Given the description of an element on the screen output the (x, y) to click on. 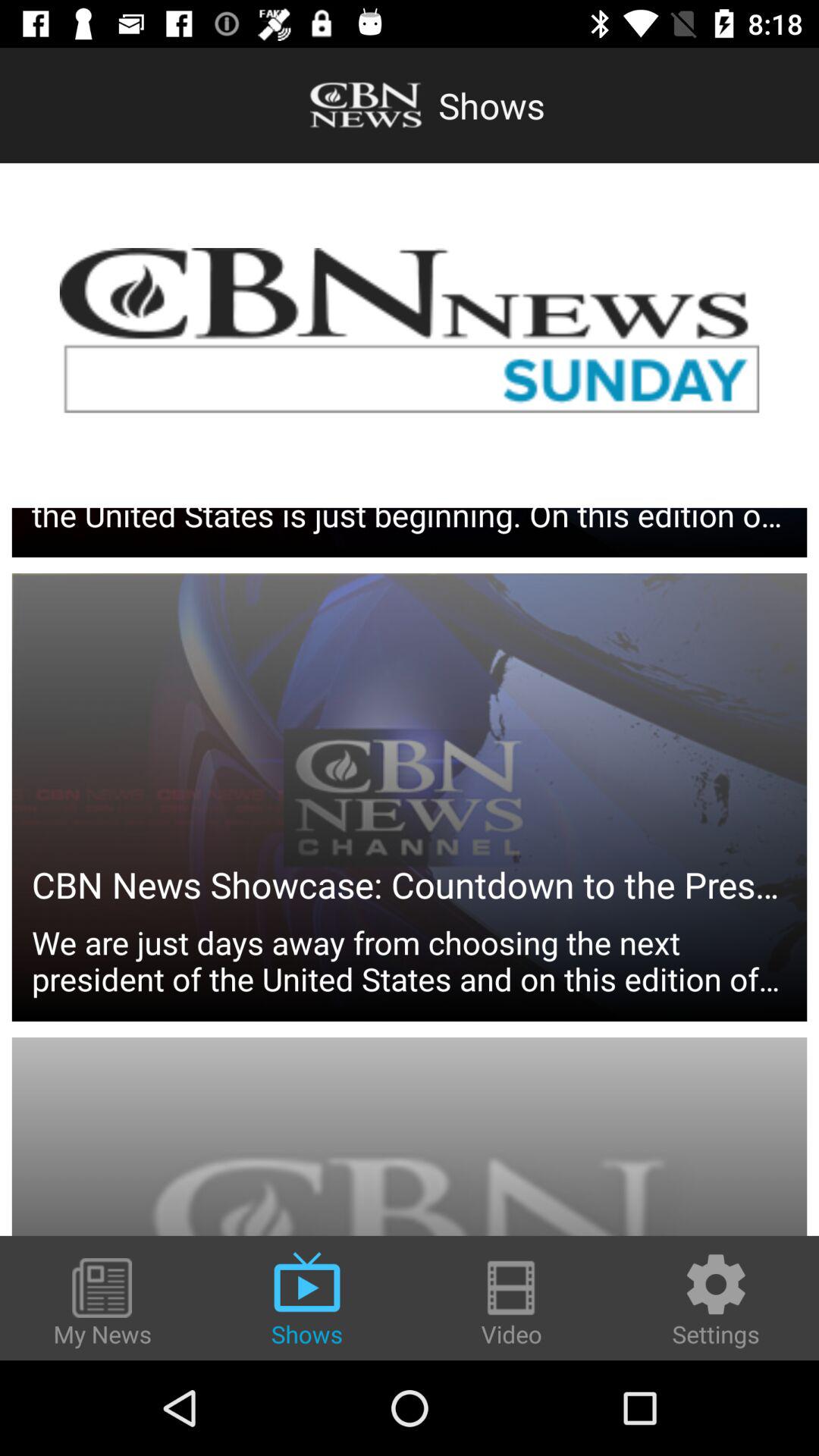
turn off the item to the right of the video (715, 1299)
